Given the description of an element on the screen output the (x, y) to click on. 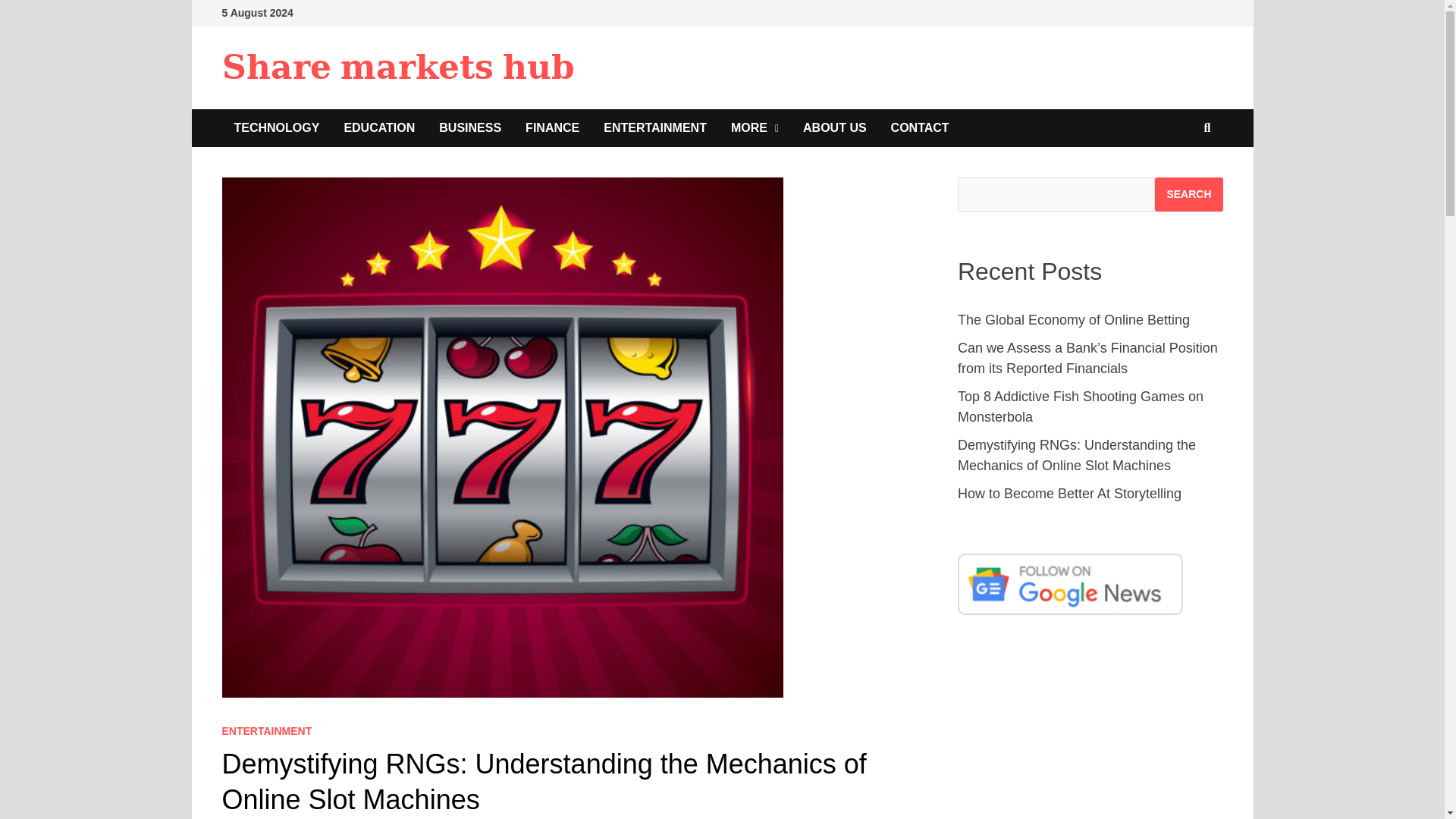
FINANCE (552, 127)
MORE (754, 127)
BUSINESS (469, 127)
EDUCATION (378, 127)
ENTERTAINMENT (266, 730)
ENTERTAINMENT (655, 127)
CONTACT (919, 127)
ABOUT US (834, 127)
TECHNOLOGY (276, 127)
